Given the description of an element on the screen output the (x, y) to click on. 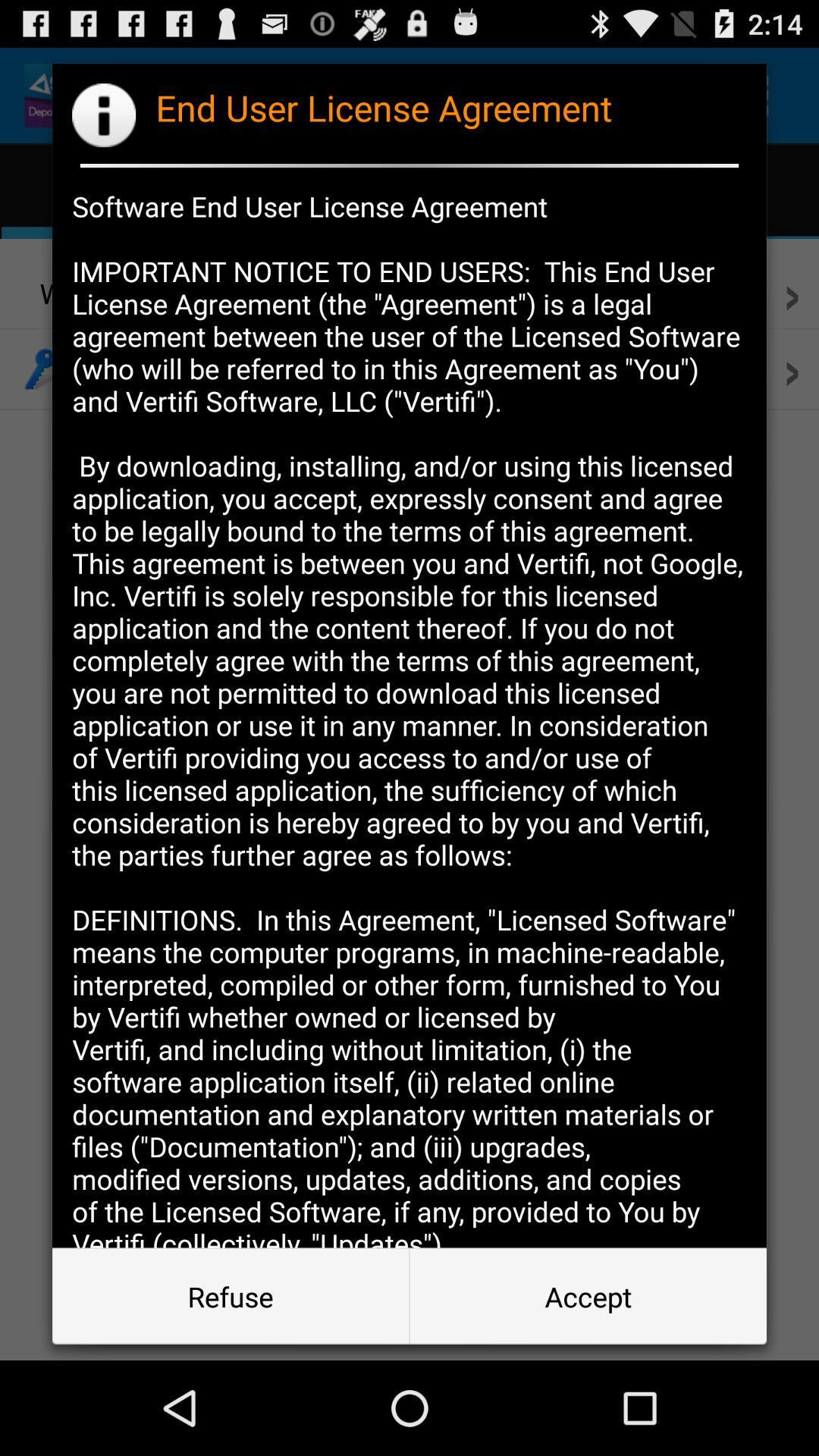
choose app below software end user app (588, 1296)
